Given the description of an element on the screen output the (x, y) to click on. 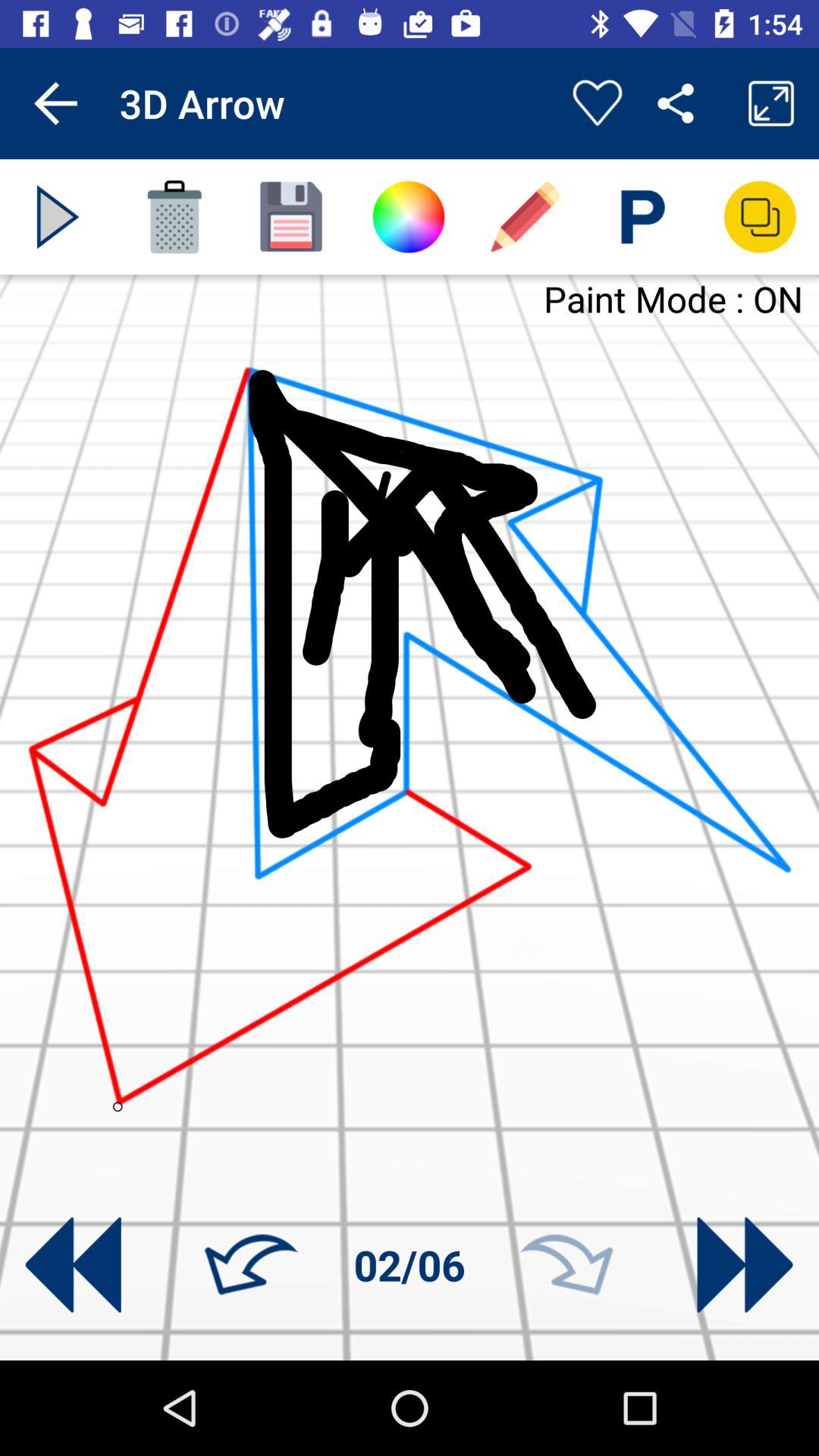
recycle bin (174, 216)
